Given the description of an element on the screen output the (x, y) to click on. 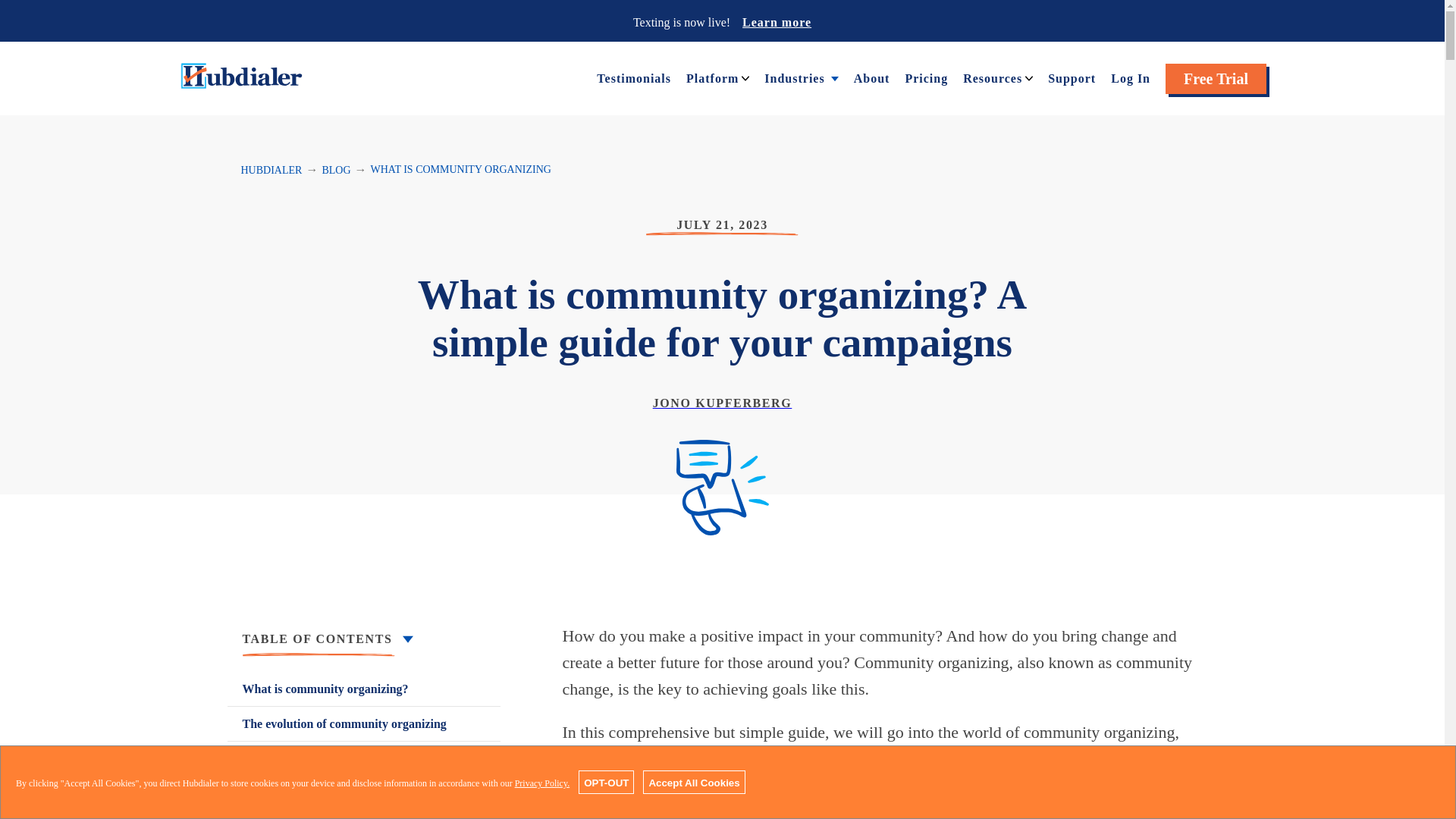
What is community organizing? (363, 688)
About (871, 77)
The evolution of community organizing (363, 723)
Platform (711, 77)
HUBDIALER (271, 170)
Learn more (776, 21)
Pricing (925, 77)
What are the other steps in successful community organizing? (363, 807)
Free Trial (1216, 78)
BLOG (335, 170)
Industries (794, 77)
Accept All Cookies (693, 781)
Support (1072, 77)
WHAT IS COMMUNITY ORGANIZING (461, 169)
Testimonials (633, 77)
